Given the description of an element on the screen output the (x, y) to click on. 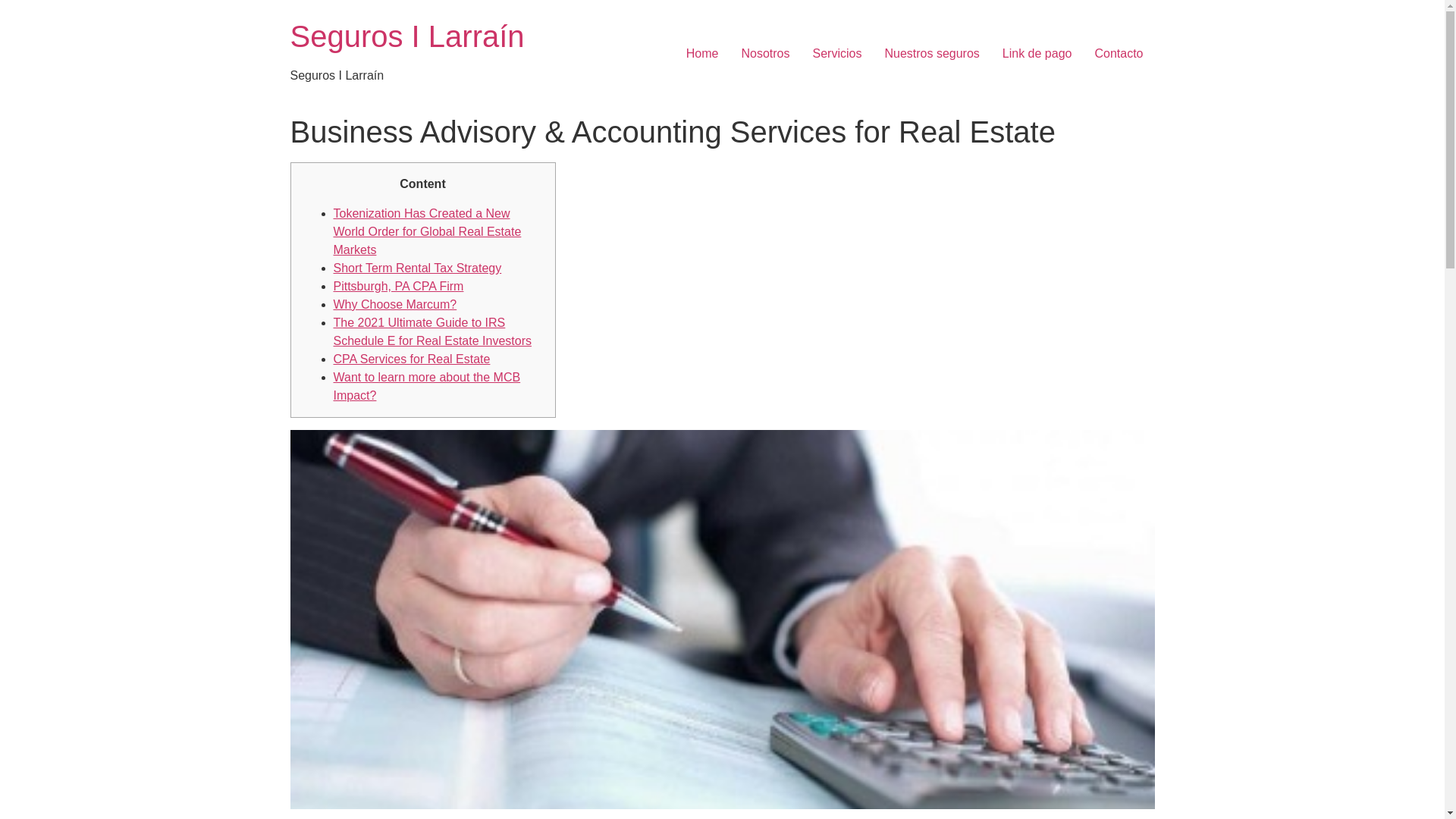
Nuestros seguros (931, 53)
Why Choose Marcum? (395, 304)
Servicios (837, 53)
Want to learn more about the MCB Impact? (427, 386)
CPA Services for Real Estate (411, 358)
Link de pago (1037, 53)
Contacto (1118, 53)
Pittsburgh, PA CPA Firm (398, 286)
Home (406, 36)
Home (702, 53)
Nosotros (764, 53)
Short Term Rental Tax Strategy (417, 267)
